Given the description of an element on the screen output the (x, y) to click on. 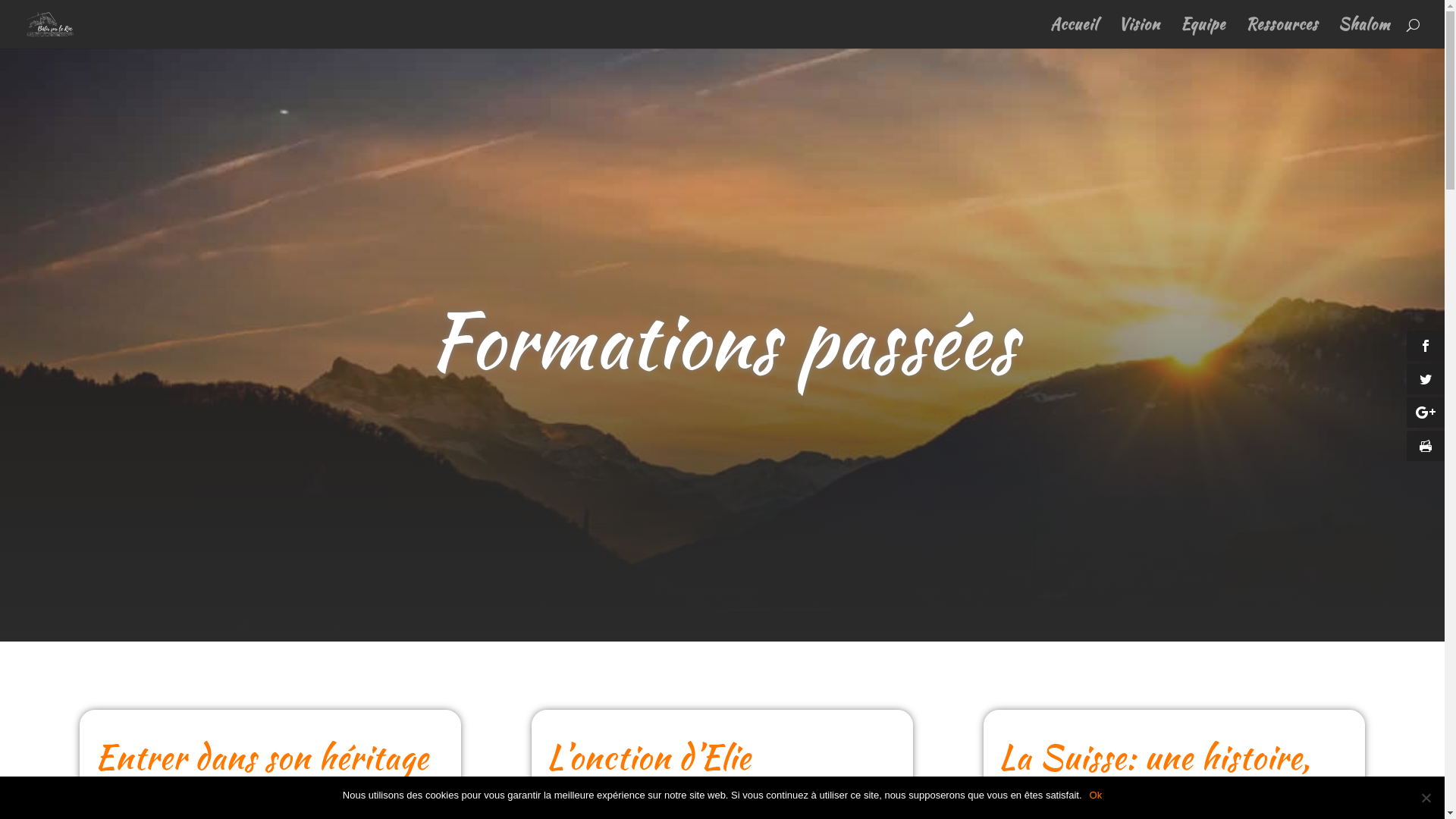
Ok Element type: text (1095, 795)
Equipe Element type: text (1202, 33)
Accueil Element type: text (1074, 33)
Ressources Element type: text (1281, 33)
Shalom Element type: text (1364, 33)
Non Element type: hover (1425, 797)
Vision Element type: text (1139, 33)
